Given the description of an element on the screen output the (x, y) to click on. 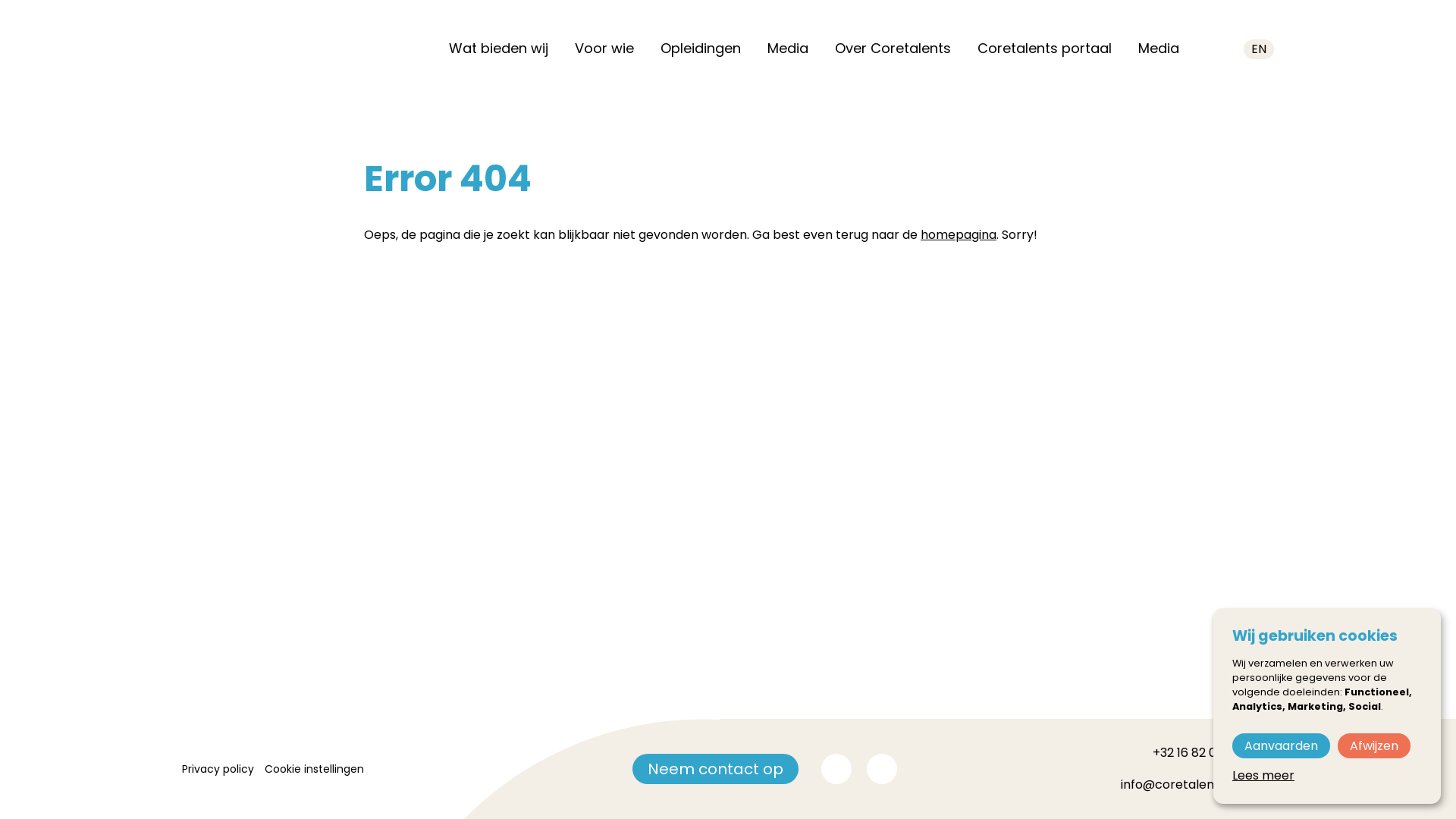
Voor wie Element type: text (603, 48)
Afwijzen Element type: text (1373, 745)
Lees meer Element type: text (1263, 774)
Skip to main navigation Element type: text (0, 0)
404 - Coretalents Element type: text (292, 49)
Opleidingen Element type: text (700, 48)
Neem contact op Element type: text (715, 768)
homepagina Element type: text (958, 234)
Privacy policy Element type: text (218, 768)
Media Element type: text (1158, 48)
Coretalents portaal Element type: text (1044, 48)
EN Element type: text (1258, 49)
+32 16 82 04 82 Element type: text (1197, 752)
Media Element type: text (787, 48)
Wat bieden wij Element type: text (498, 48)
info@coretalents.eu Element type: text (1181, 784)
Aanvaarden Element type: text (1281, 745)
Over Coretalents Element type: text (892, 48)
